Given the description of an element on the screen output the (x, y) to click on. 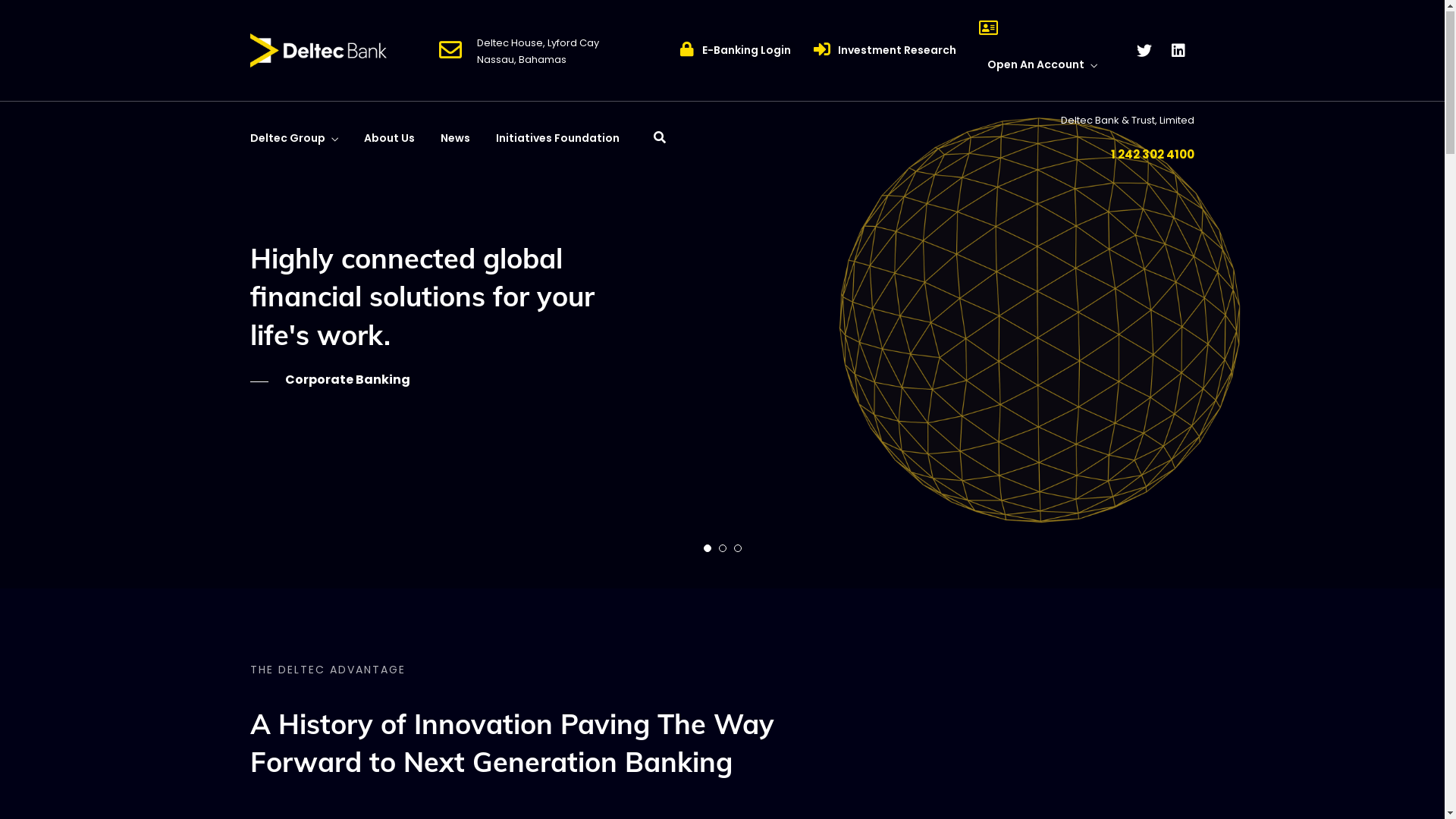
Open An Account Element type: text (1042, 67)
About Us Element type: text (389, 138)
Deltec Group Element type: text (294, 141)
Investment Research Element type: text (896, 50)
News Element type: text (455, 138)
Initiatives Foundation Element type: text (557, 138)
E-Banking Login Element type: text (746, 50)
Corporate Banking Element type: text (330, 380)
